Given the description of an element on the screen output the (x, y) to click on. 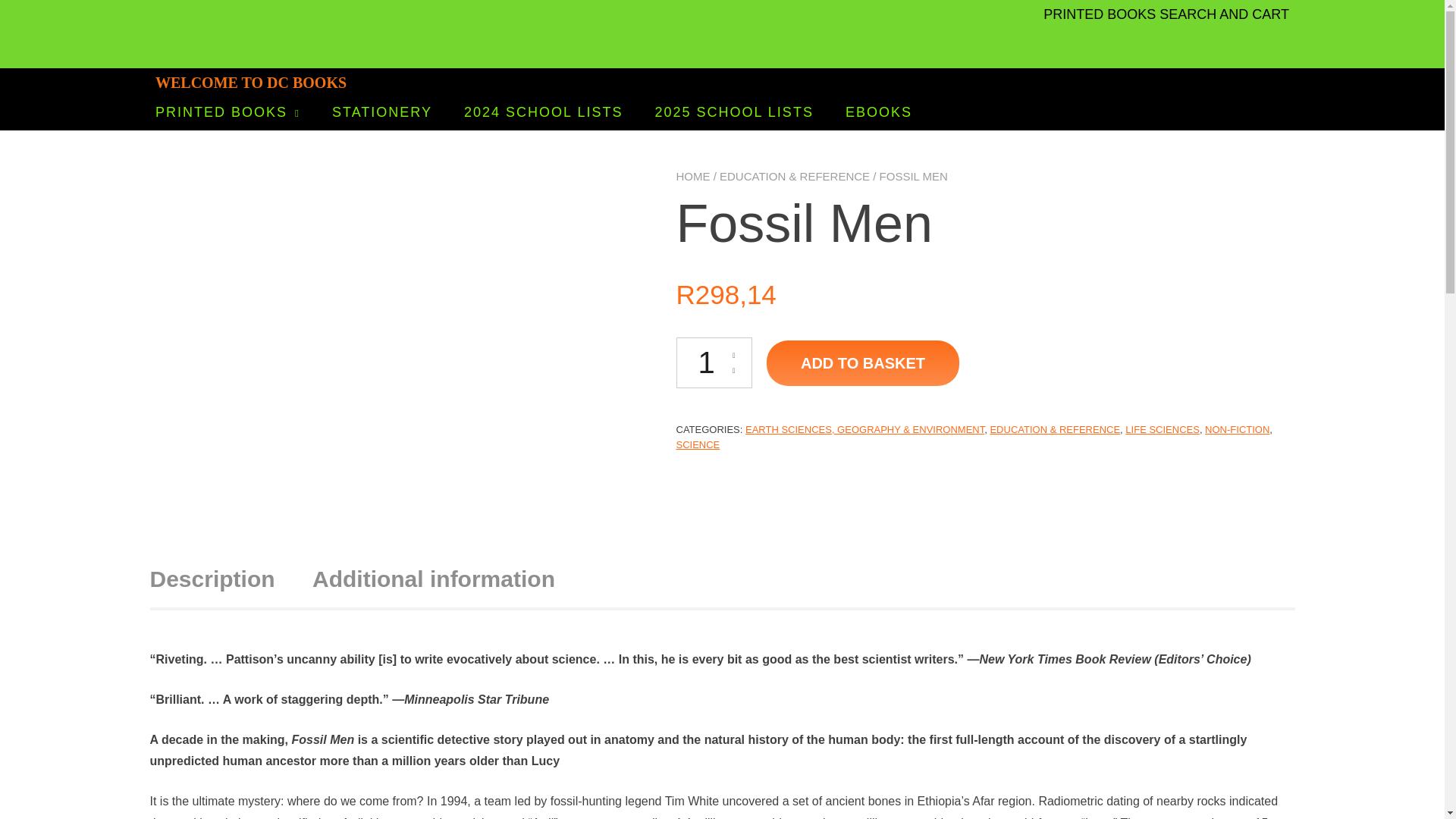
2024 SCHOOL LISTS (543, 112)
WELCOME TO DC BOOKS (250, 82)
EBOOKS (878, 112)
ADD TO BASKET (863, 361)
SCIENCE (698, 443)
HOME (693, 175)
1 (714, 362)
2025 SCHOOL LISTS (732, 112)
PRINTED BOOKS (227, 112)
Additional information (433, 580)
Description (212, 580)
NON-FICTION (1237, 429)
LIFE SCIENCES (1162, 429)
STATIONERY (381, 112)
